Given the description of an element on the screen output the (x, y) to click on. 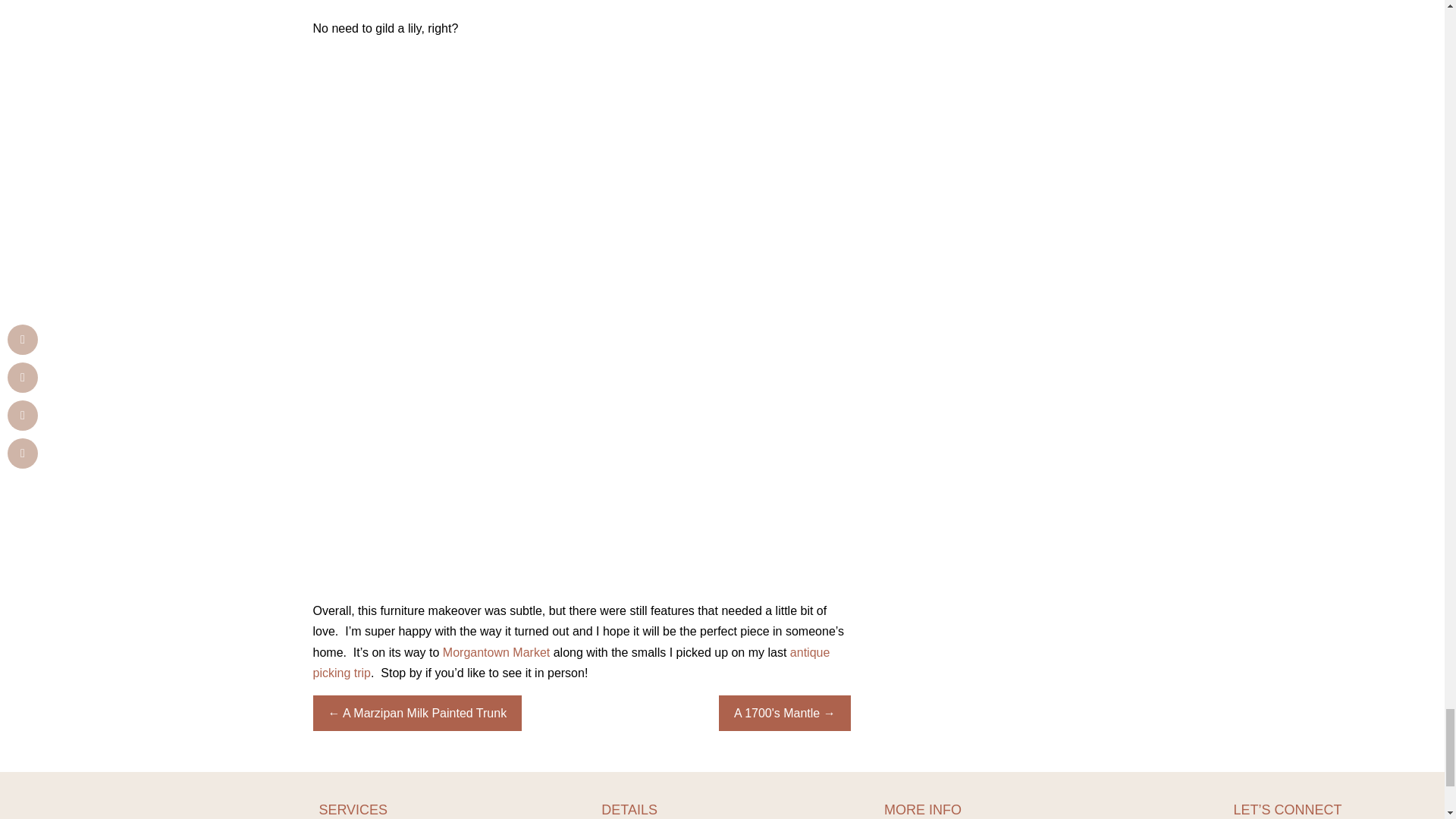
antique picking trip (571, 662)
Morgantown Market (496, 652)
